Given the description of an element on the screen output the (x, y) to click on. 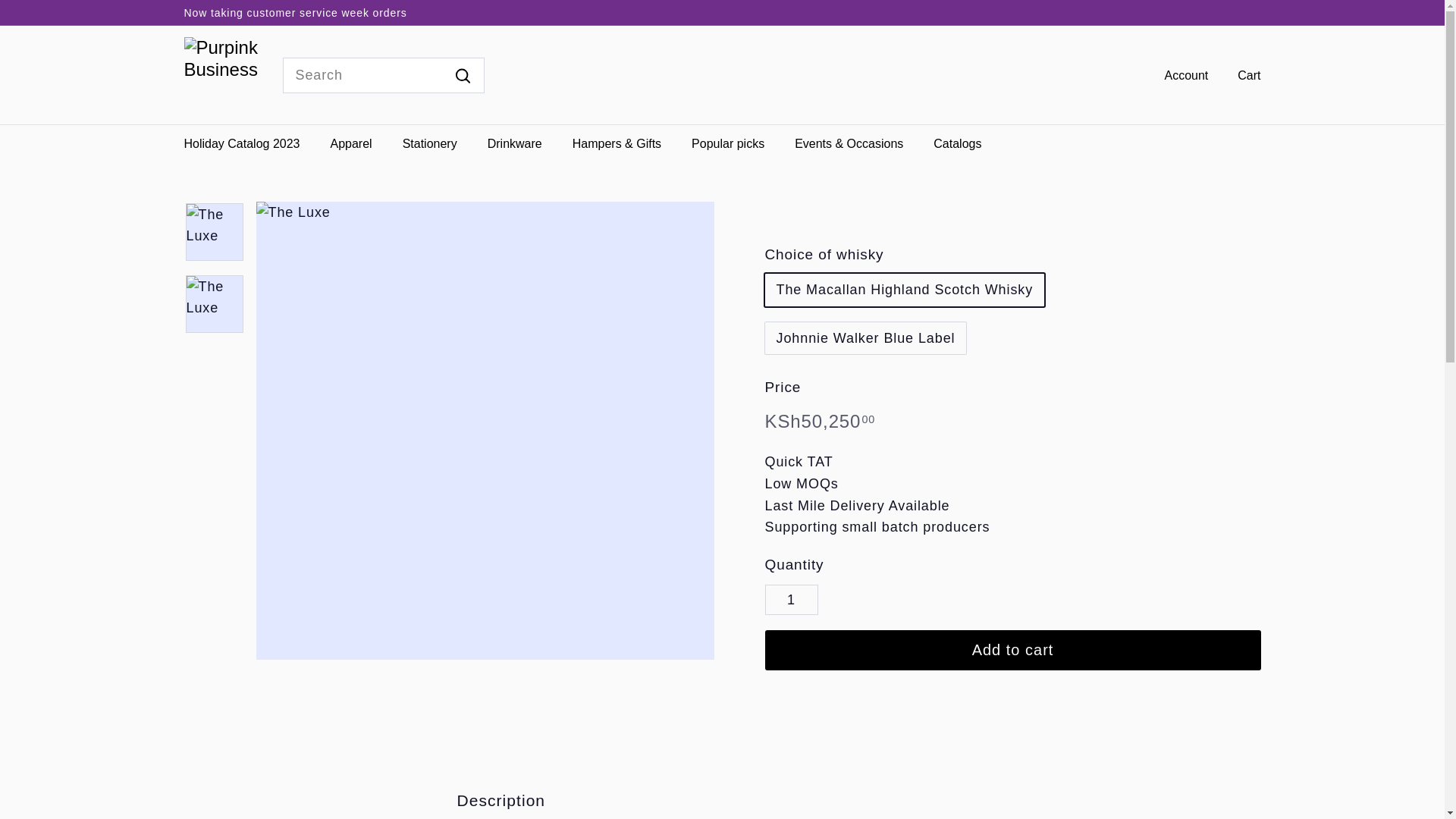
1 (790, 599)
Apparel (351, 143)
Account (1179, 75)
Holiday Catalog 2023 (241, 143)
Cart (1243, 75)
